Given the description of an element on the screen output the (x, y) to click on. 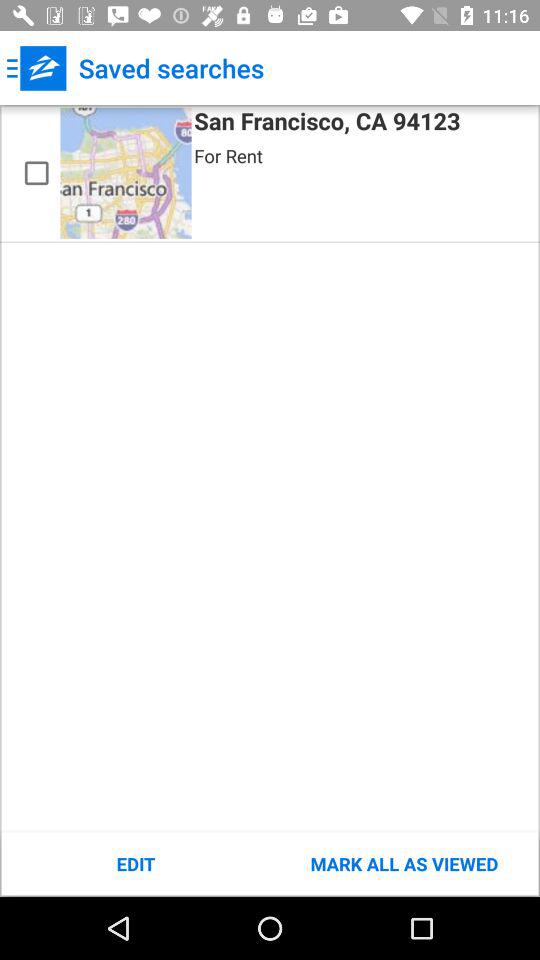
click the item to the right of edit icon (404, 863)
